Given the description of an element on the screen output the (x, y) to click on. 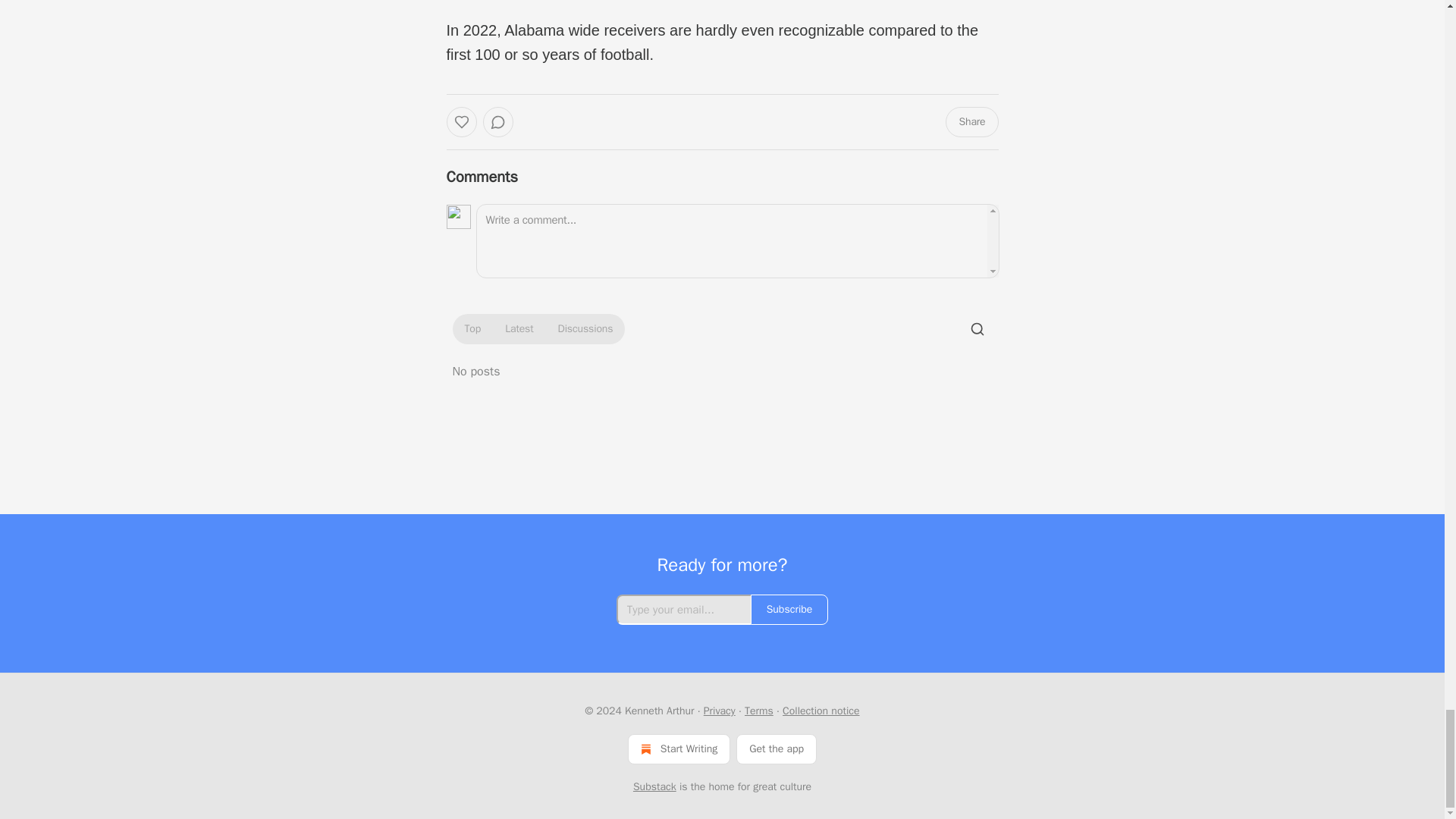
Latest (518, 328)
Discussions (585, 328)
Share (970, 122)
Top (471, 328)
